Given the description of an element on the screen output the (x, y) to click on. 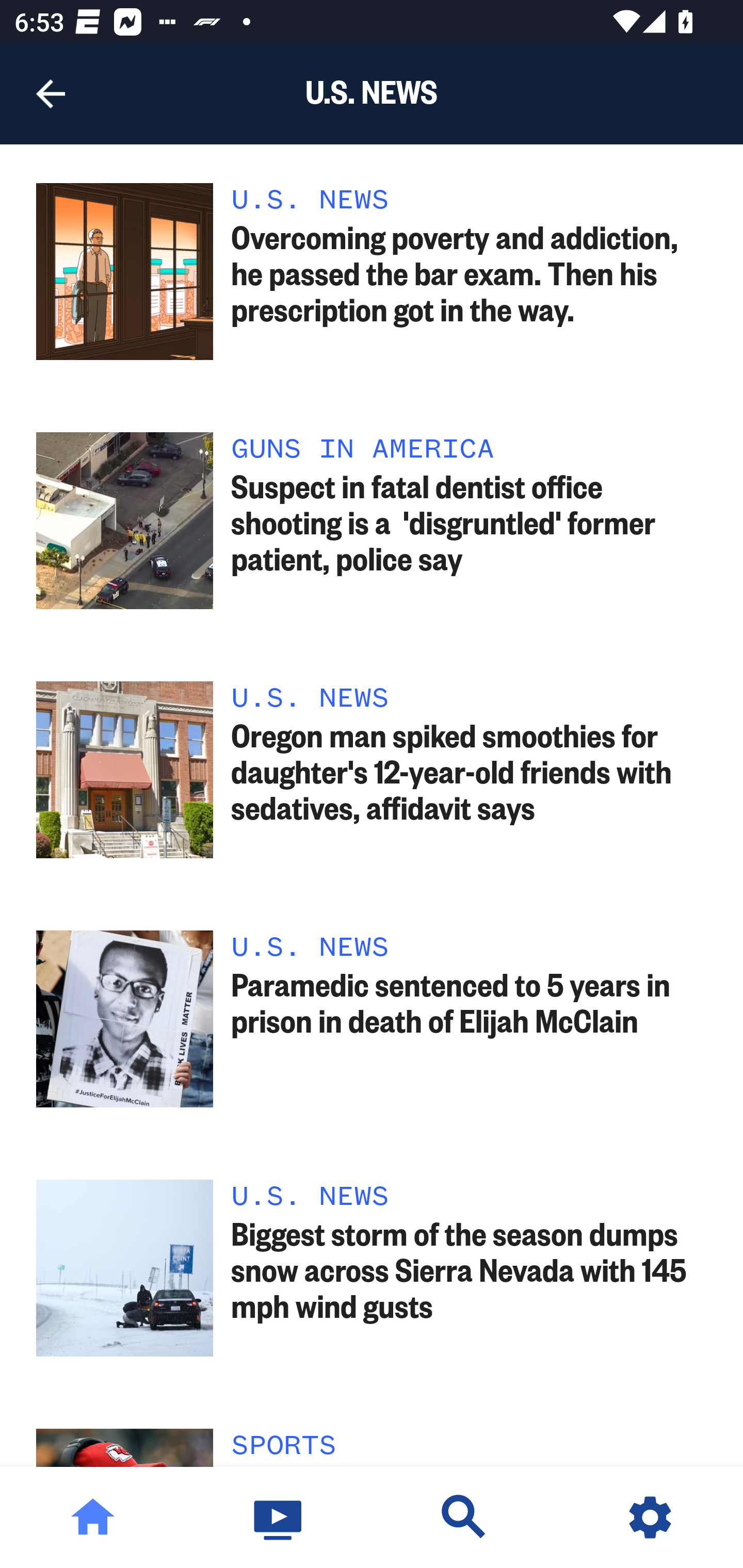
Navigate up (50, 93)
Watch (278, 1517)
Discover (464, 1517)
Settings (650, 1517)
